Given the description of an element on the screen output the (x, y) to click on. 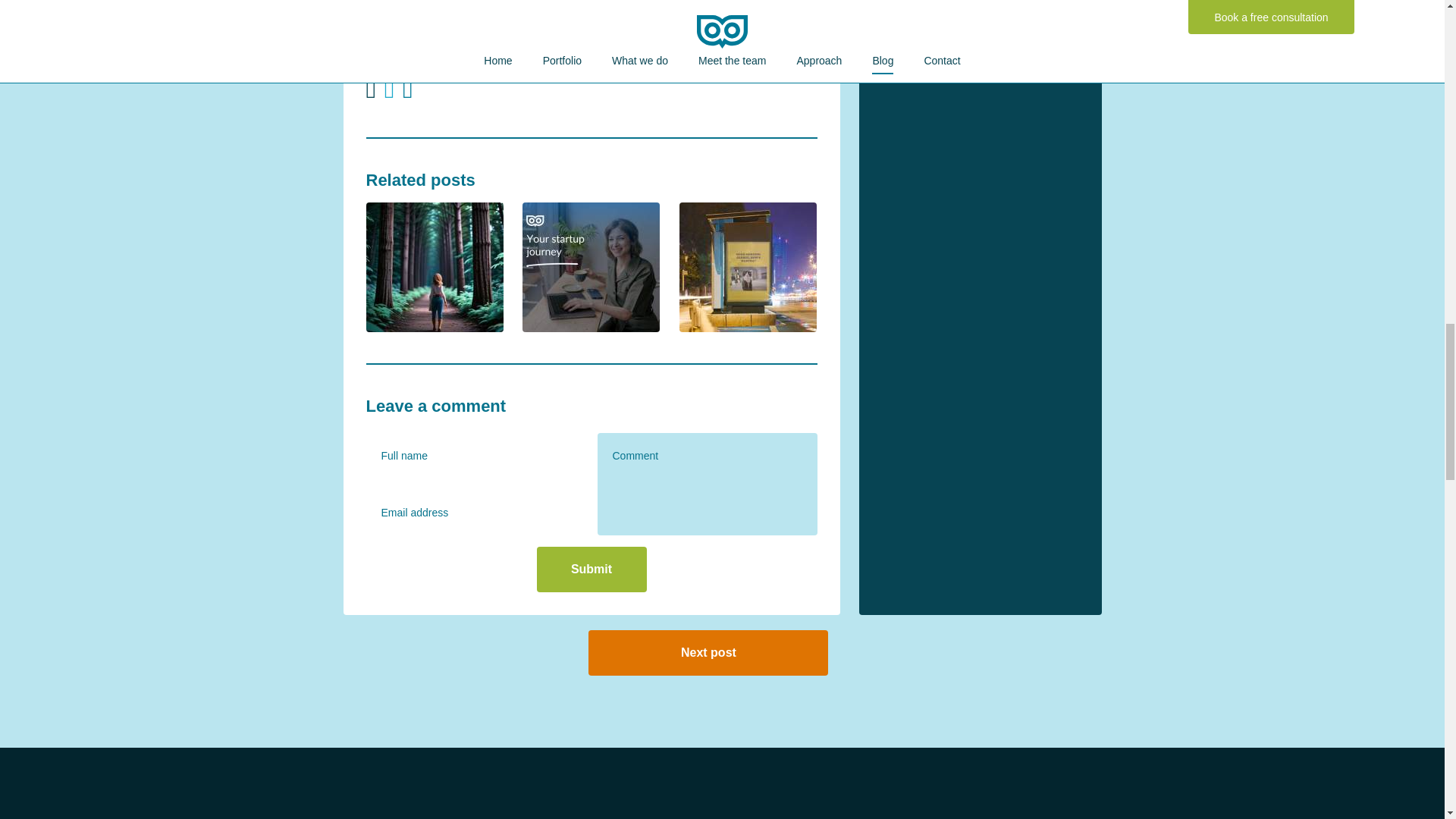
Submit (591, 569)
marketing (507, 44)
Next post (708, 652)
LinkedIn (451, 44)
quick wins (567, 44)
Contact us (573, 5)
